Given the description of an element on the screen output the (x, y) to click on. 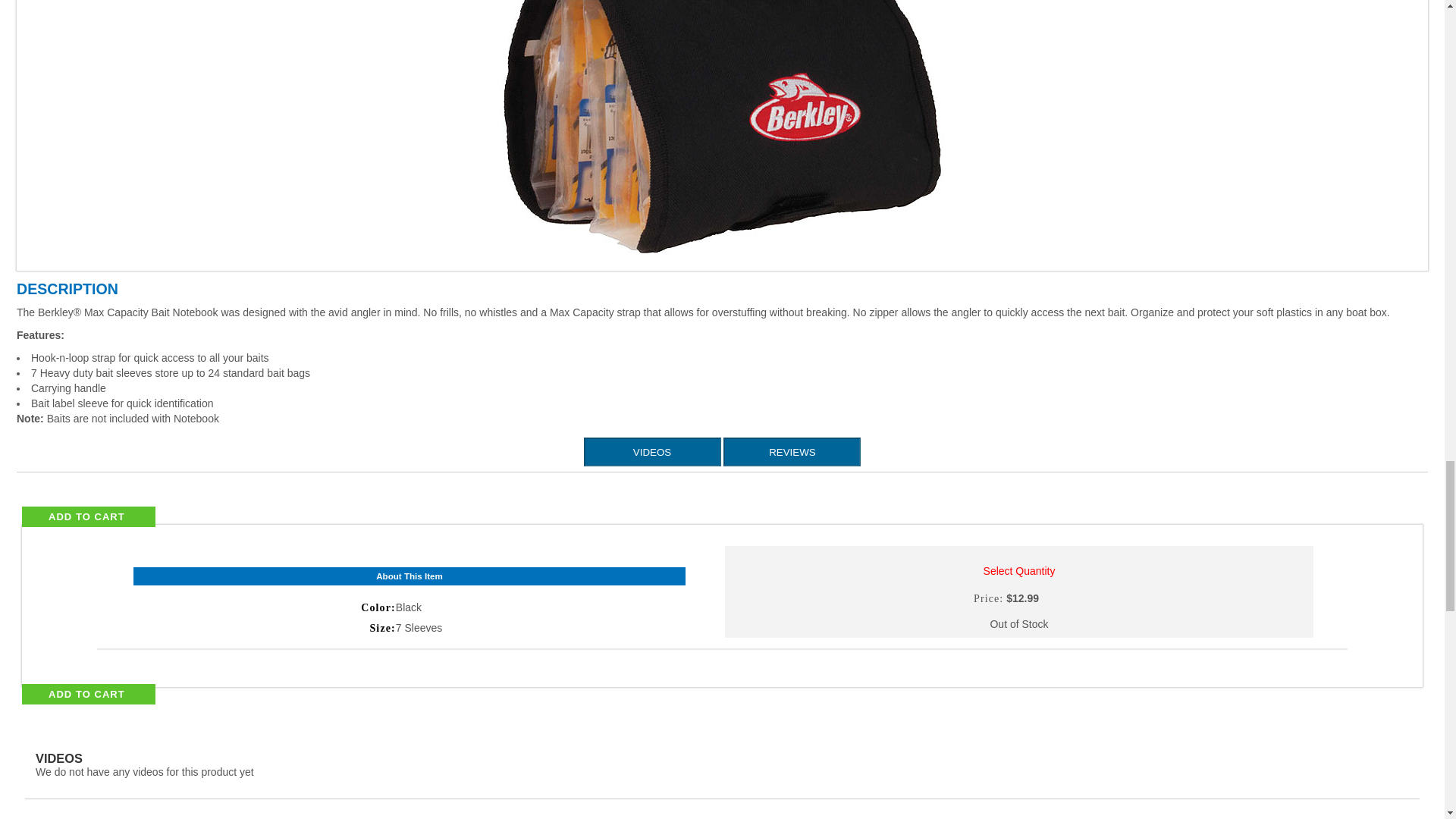
REVIEWS (791, 451)
REVIEWS (791, 451)
VIDEOS (651, 451)
VIDEOS (651, 451)
